Given the description of an element on the screen output the (x, y) to click on. 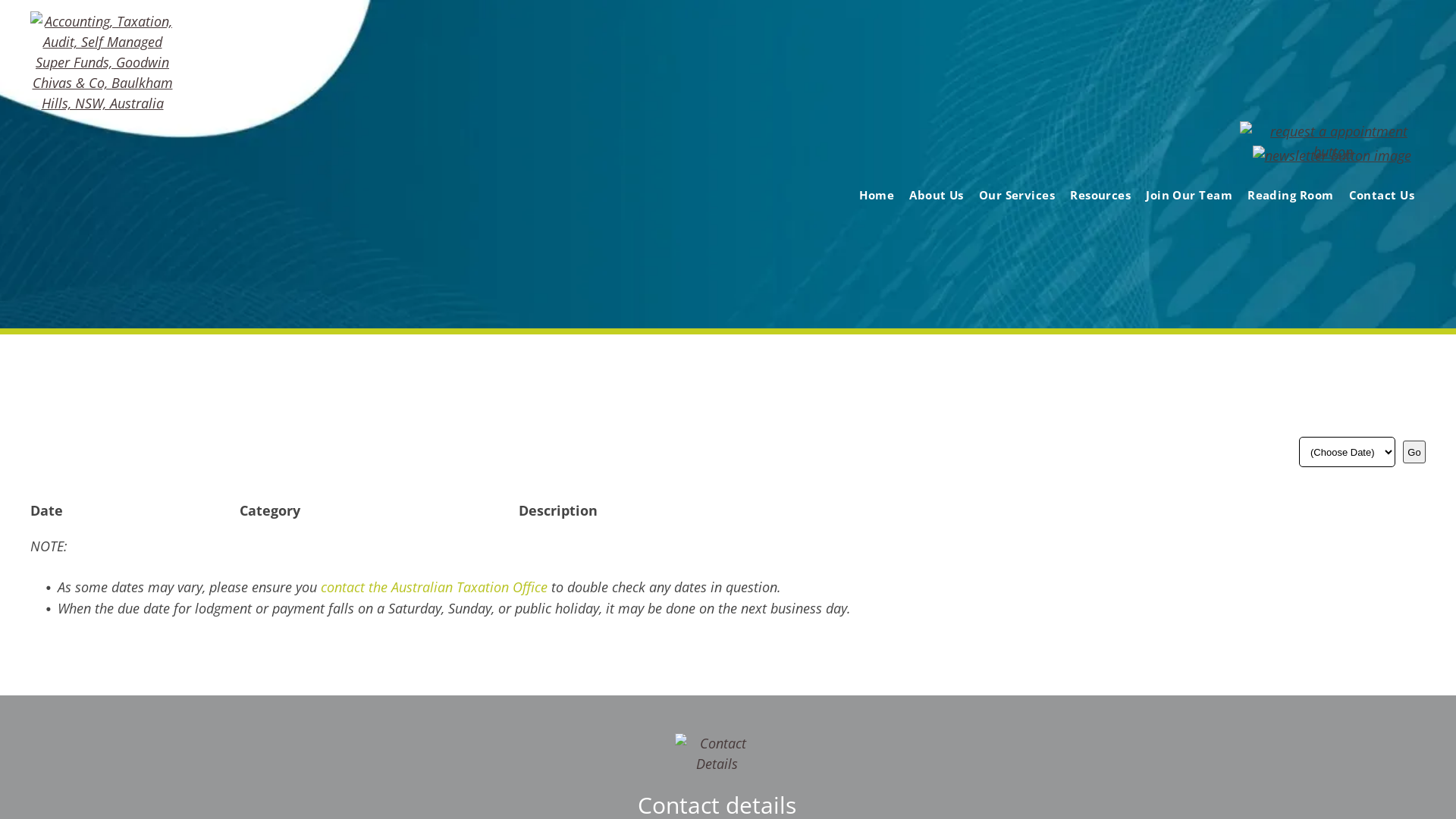
Home Element type: text (876, 195)
Resources Element type: text (1100, 195)
contact the Australian Taxation Office Element type: text (433, 586)
About Us Element type: text (936, 195)
Contact Us Element type: text (1380, 195)
Our Services Element type: text (1016, 195)
Join Our Team Element type: text (1188, 195)
Reading Room Element type: text (1289, 195)
